Given the description of an element on the screen output the (x, y) to click on. 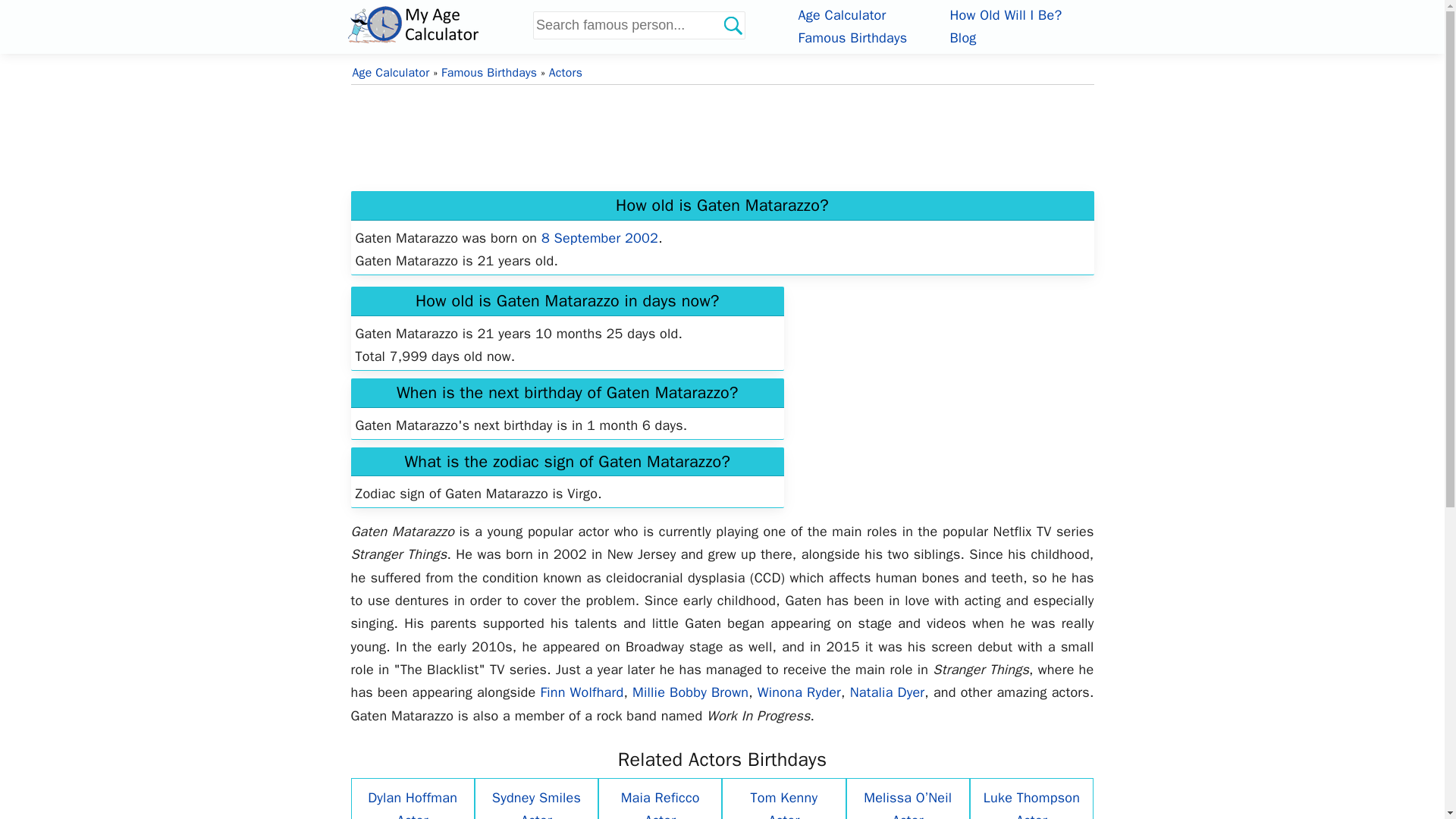
How Old Will I Be? (1005, 14)
Natalia Dyer (887, 692)
Finn Wolfhard (581, 692)
Millie Bobby Brown (689, 692)
Actors (565, 72)
How Old Will I Be In The Future? (1005, 14)
September 8 Famous Birthdays (599, 238)
Age Calculator (437, 24)
Age Calculator (841, 14)
Famous Birthdays (852, 37)
Age Calculator (390, 72)
Winona Ryder (799, 692)
8 September 2002 (599, 238)
Blog (962, 37)
Age Calculator Blog (962, 37)
